Given the description of an element on the screen output the (x, y) to click on. 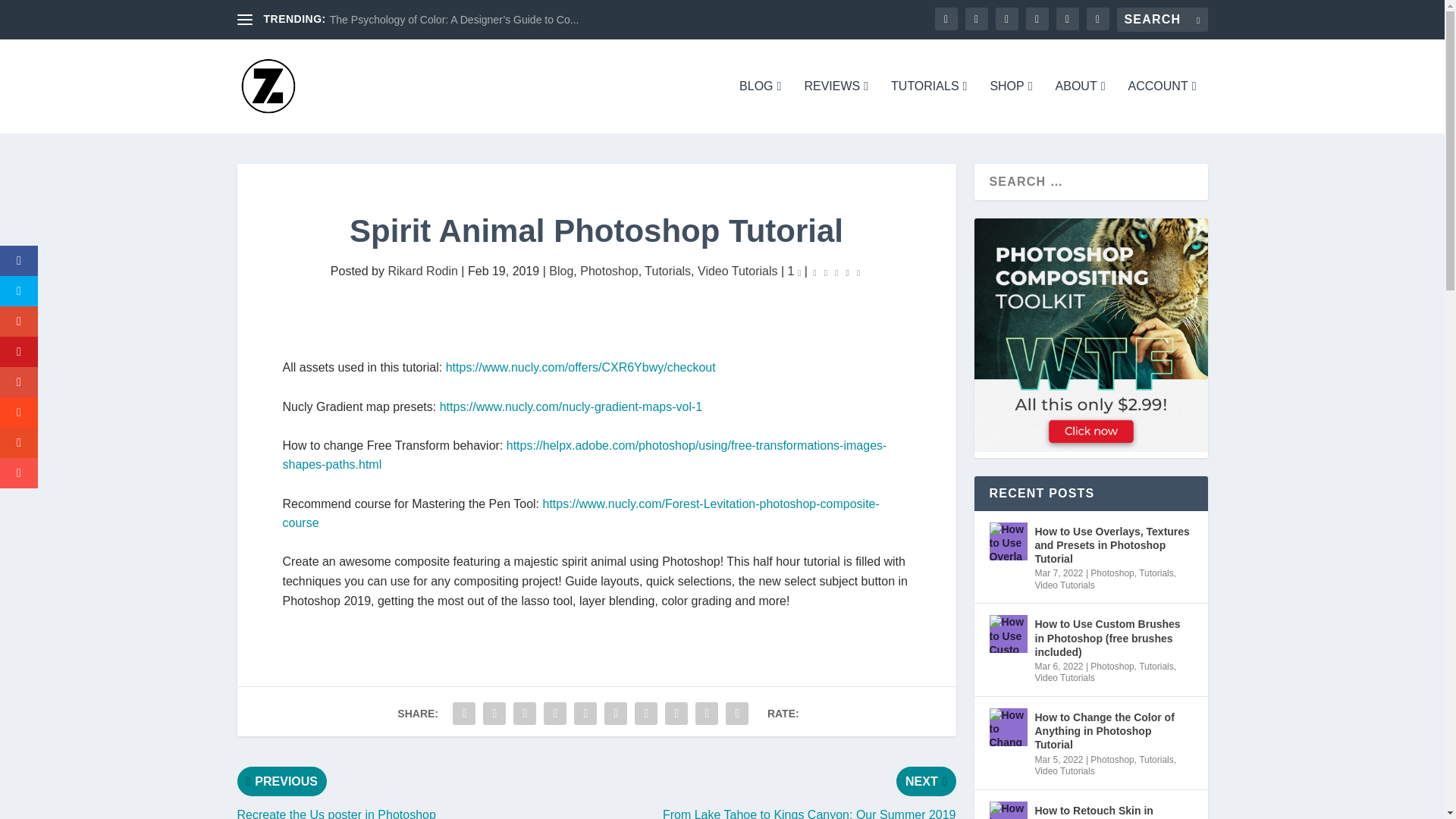
Photoshop (609, 270)
TUTORIALS (928, 106)
Rating: 0.00 (835, 271)
Share "Spirit Animal Photoshop Tutorial" via Email (706, 713)
Share "Spirit Animal Photoshop Tutorial" via Facebook (463, 713)
Share "Spirit Animal Photoshop Tutorial" via Tumblr (555, 713)
ABOUT (1080, 106)
ACCOUNT (1162, 106)
Posts by Rikard Rodin (422, 270)
Search for: (1161, 19)
Rikard Rodin (422, 270)
Share "Spirit Animal Photoshop Tutorial" via LinkedIn (614, 713)
Share "Spirit Animal Photoshop Tutorial" via Twitter (494, 713)
Share "Spirit Animal Photoshop Tutorial" via Pinterest (584, 713)
REVIEWS (835, 106)
